Given the description of an element on the screen output the (x, y) to click on. 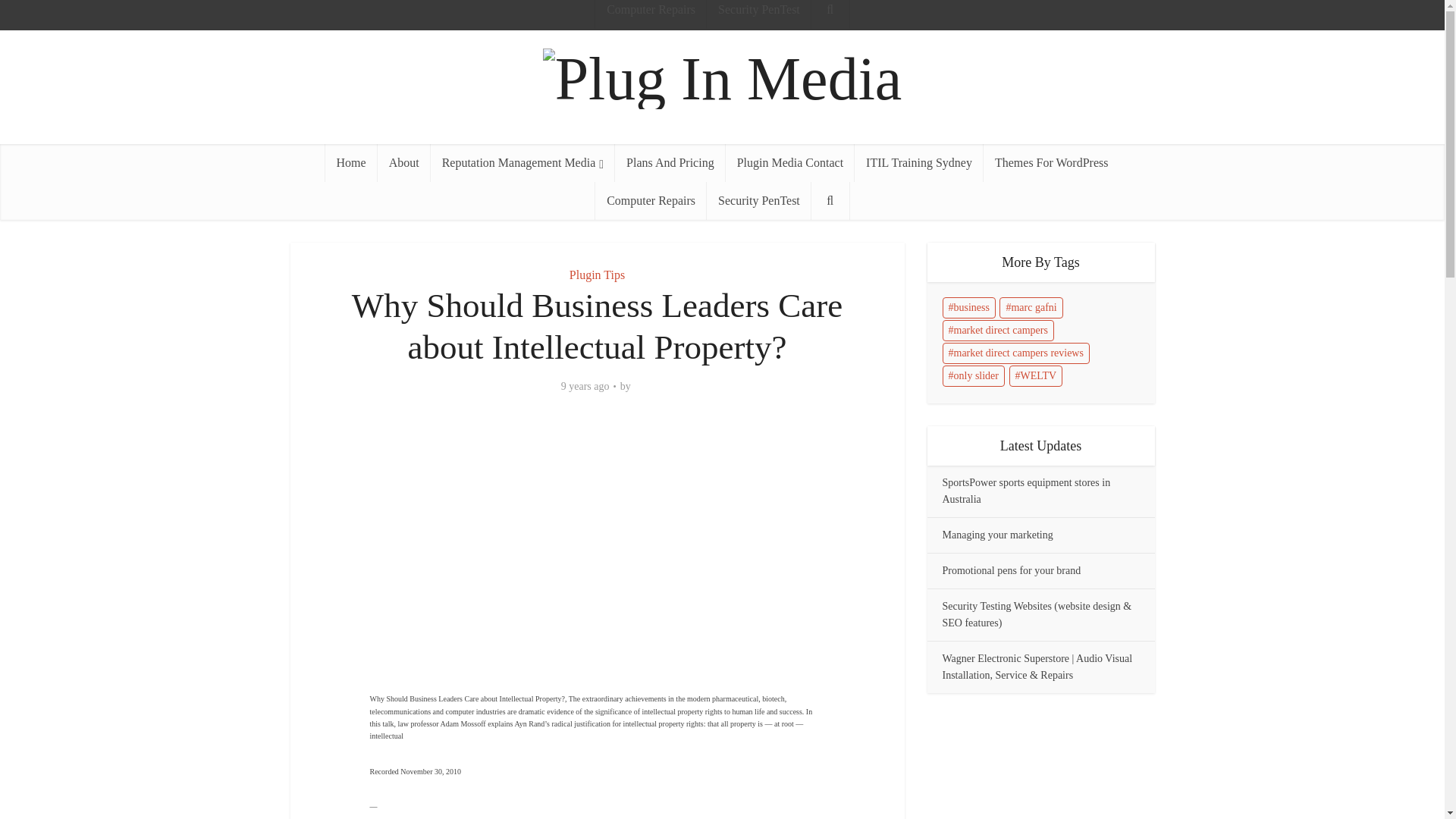
Plugin Tips (596, 274)
About (403, 162)
Plans And Pricing (669, 162)
Security PenTest (758, 14)
Themes For WordPress (1051, 162)
Home (350, 162)
Reputation Management Media (522, 162)
Security PenTest (758, 200)
Plugin Media Contact (789, 162)
ITIL Training Sydney (919, 162)
Computer Repairs (650, 200)
Computer Repairs (650, 14)
